Given the description of an element on the screen output the (x, y) to click on. 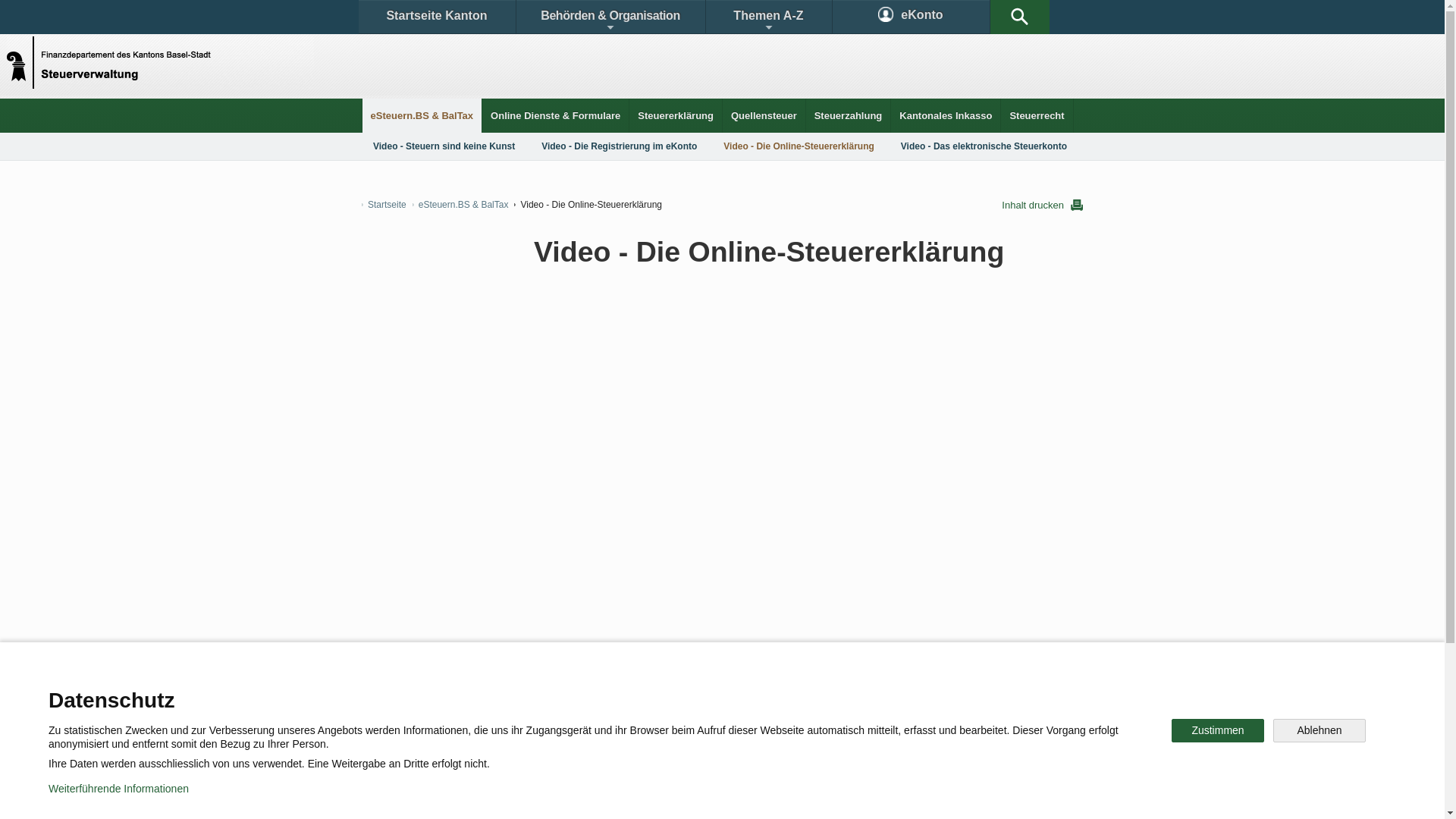
Startseite Kanton Element type: text (435, 17)
Nutzungsregelungen Element type: text (542, 796)
LinkedIn Element type: text (734, 746)
Xing Element type: text (819, 746)
Impressum Element type: text (648, 796)
Online Dienste & Formulare Element type: text (555, 115)
Gesetze Element type: text (597, 693)
Stadtplan & Karte Element type: text (504, 693)
Kontakt Element type: text (406, 693)
Steuerzahlung Element type: text (848, 115)
eSteuern.BS & BalTax Element type: text (460, 204)
Themen A-Z Element type: text (768, 17)
Quellensteuer Element type: text (763, 115)
Kantonales Inkasso Element type: text (945, 115)
Zustimmen Element type: text (1217, 730)
Facebook Element type: text (547, 746)
Startseite Element type: text (383, 204)
Twitter Element type: text (642, 746)
Video - Steuern sind keine Kunst Element type: text (443, 145)
eKonto Element type: text (910, 17)
Video - Die Registrierung im eKonto Element type: text (619, 145)
eSteuern.BS & BalTax Element type: text (422, 115)
Inhalt drucken Element type: text (1041, 204)
Publikationen Element type: text (795, 693)
Statistiken Element type: text (687, 693)
Video - Das elektronische Steuerkonto Element type: text (983, 145)
Zur mobilen Ansicht Element type: text (752, 796)
Ablehnen Element type: text (1319, 730)
Bild & Multimedia Element type: text (908, 693)
Steuerrecht Element type: text (1036, 115)
